Given the description of an element on the screen output the (x, y) to click on. 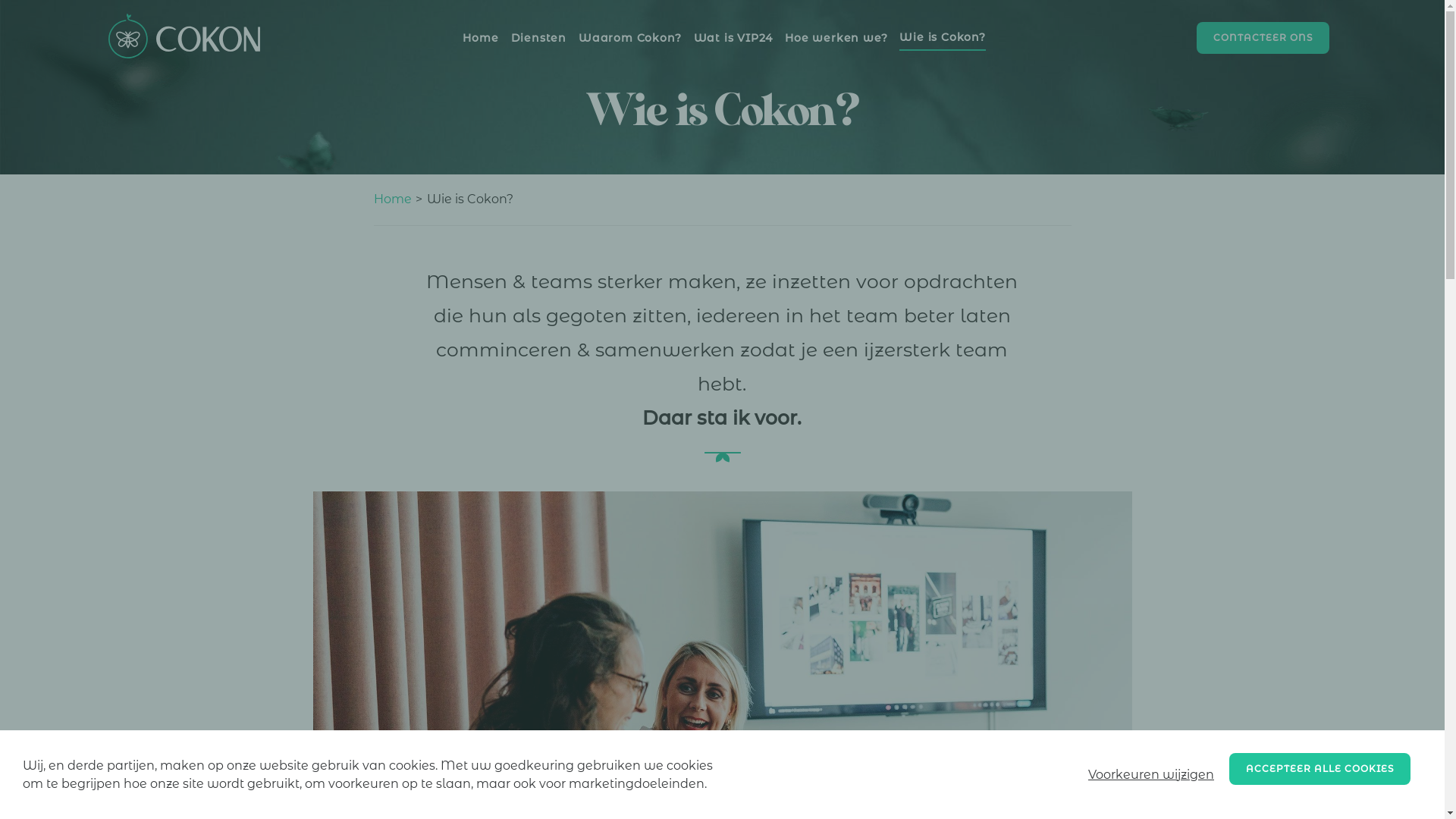
Home Element type: text (392, 199)
CONTACTEER ONS Element type: text (1262, 37)
Wie is Cokon? Element type: text (942, 37)
Wat is VIP24 Element type: text (732, 37)
Hoe werken we? Element type: text (835, 37)
Diensten Element type: text (538, 37)
Home Element type: text (480, 37)
Waarom Cokon? Element type: text (629, 37)
